Given the description of an element on the screen output the (x, y) to click on. 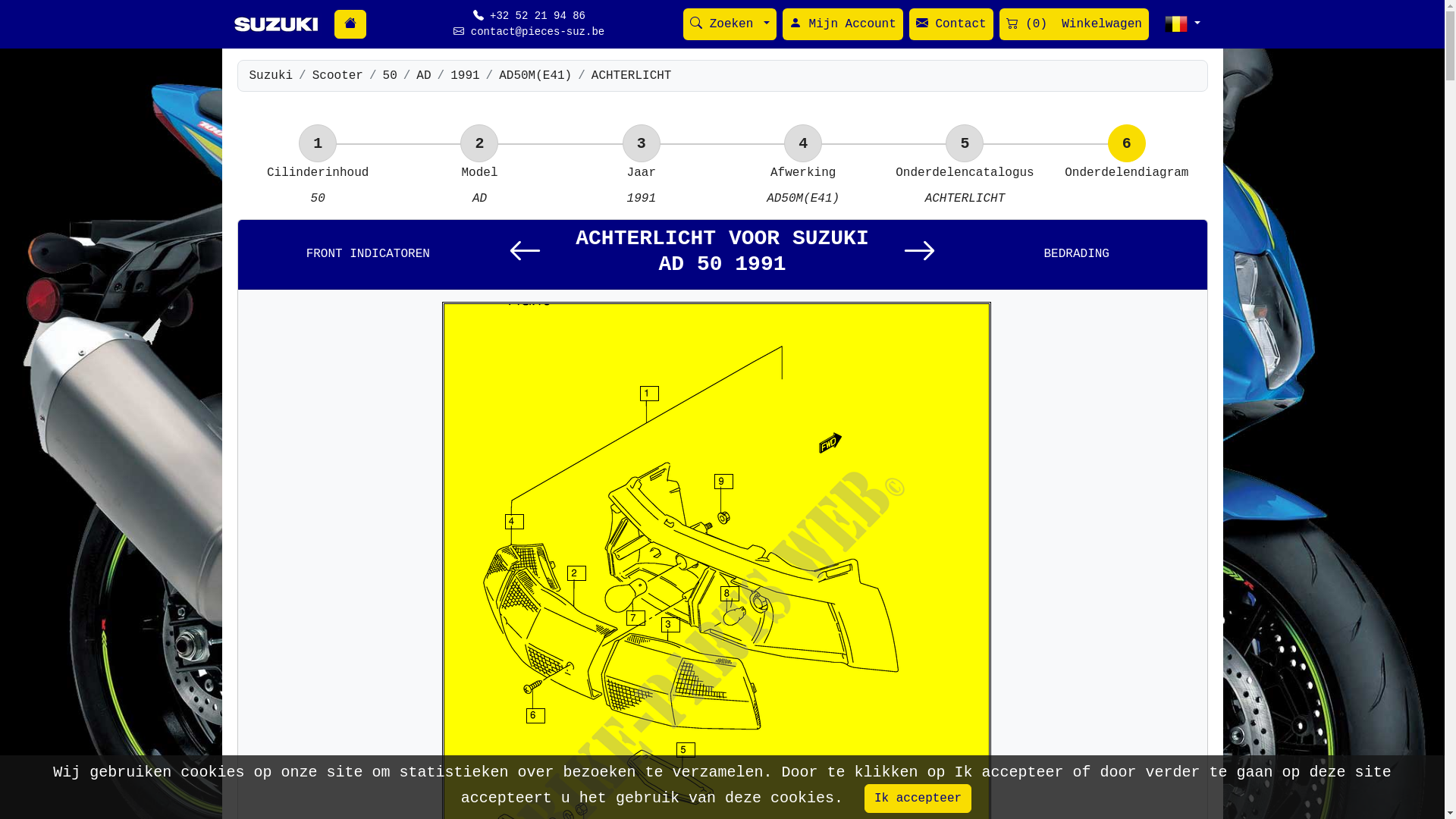
6
Onderdelendiagram Element type: text (1126, 176)
5 Element type: text (964, 143)
AD50M(E41) Element type: text (534, 75)
4
Afwerking
AD50M(E41) Element type: text (802, 185)
2 Element type: text (479, 143)
4 Element type: text (803, 143)
BEDRADING Element type: text (1076, 254)
FRONT INDICATOREN Element type: text (368, 254)
AD Element type: text (423, 75)
Contact Element type: text (951, 24)
Mijn Account Element type: text (842, 24)
1
Cilinderinhoud
50 Element type: text (317, 185)
50 Element type: text (389, 75)
ACHTERLICHT Element type: text (631, 75)
Scooter Element type: text (337, 75)
Suzuki Element type: text (270, 75)
(0)  Winkelwagen Element type: text (1073, 24)
3 Element type: text (641, 143)
5
Onderdelencatalogus
ACHTERLICHT Element type: text (964, 185)
6 Element type: text (1126, 143)
1 Element type: text (317, 143)
2
Model
AD Element type: text (479, 185)
3
Jaar
1991 Element type: text (640, 185)
1991 Element type: text (464, 75)
Zoeken Element type: text (729, 24)
Ik accepteer Element type: text (917, 798)
